Given the description of an element on the screen output the (x, y) to click on. 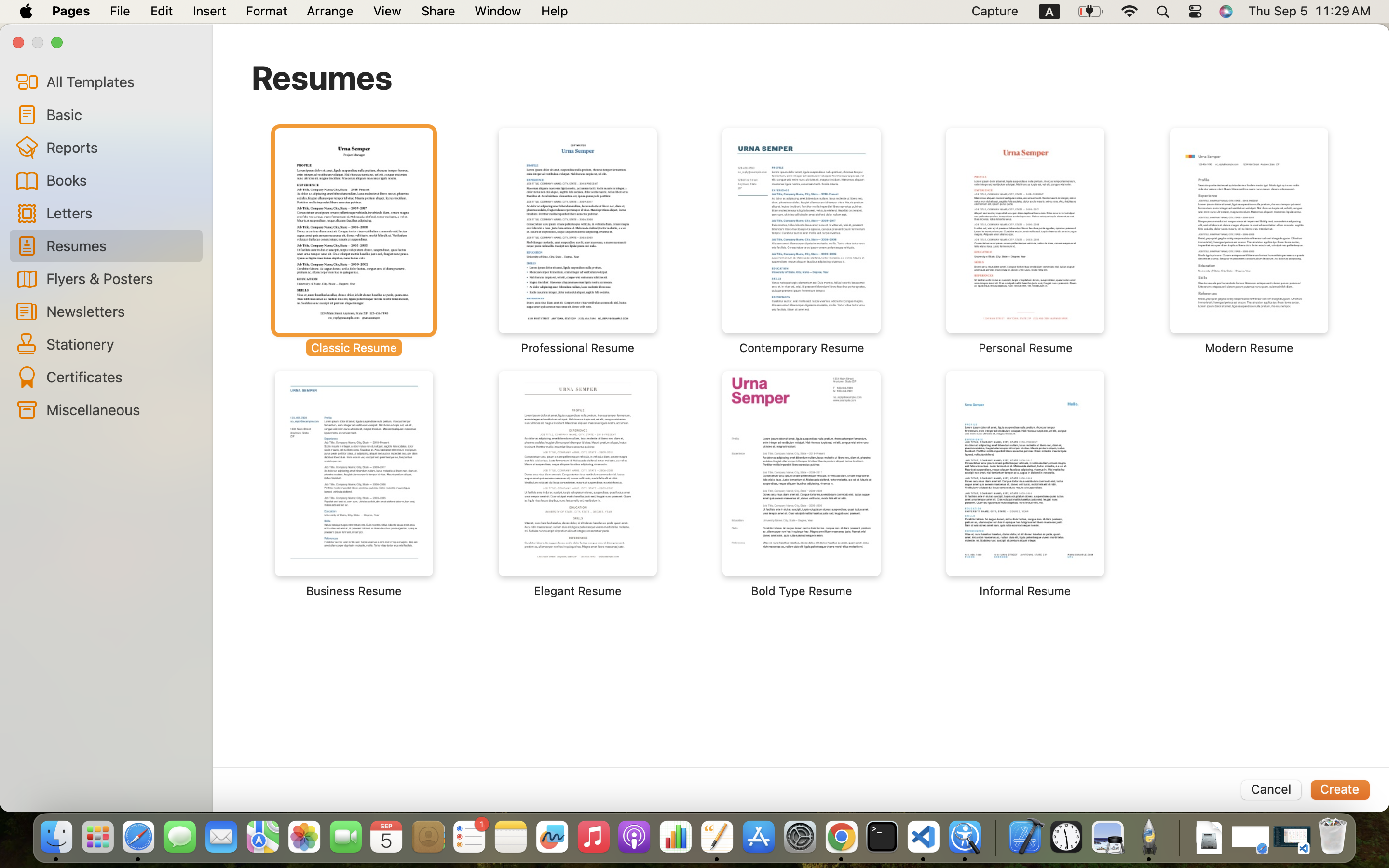
All Templates Element type: AXStaticText (120, 81)
Resumes Element type: AXStaticText (321, 76)
Basic Element type: AXStaticText (120, 114)
‎⁨Elegant Resume⁩ Element type: AXButton (577, 484)
‎⁨Personal Resume⁩ Element type: AXButton (1025, 241)
